Given the description of an element on the screen output the (x, y) to click on. 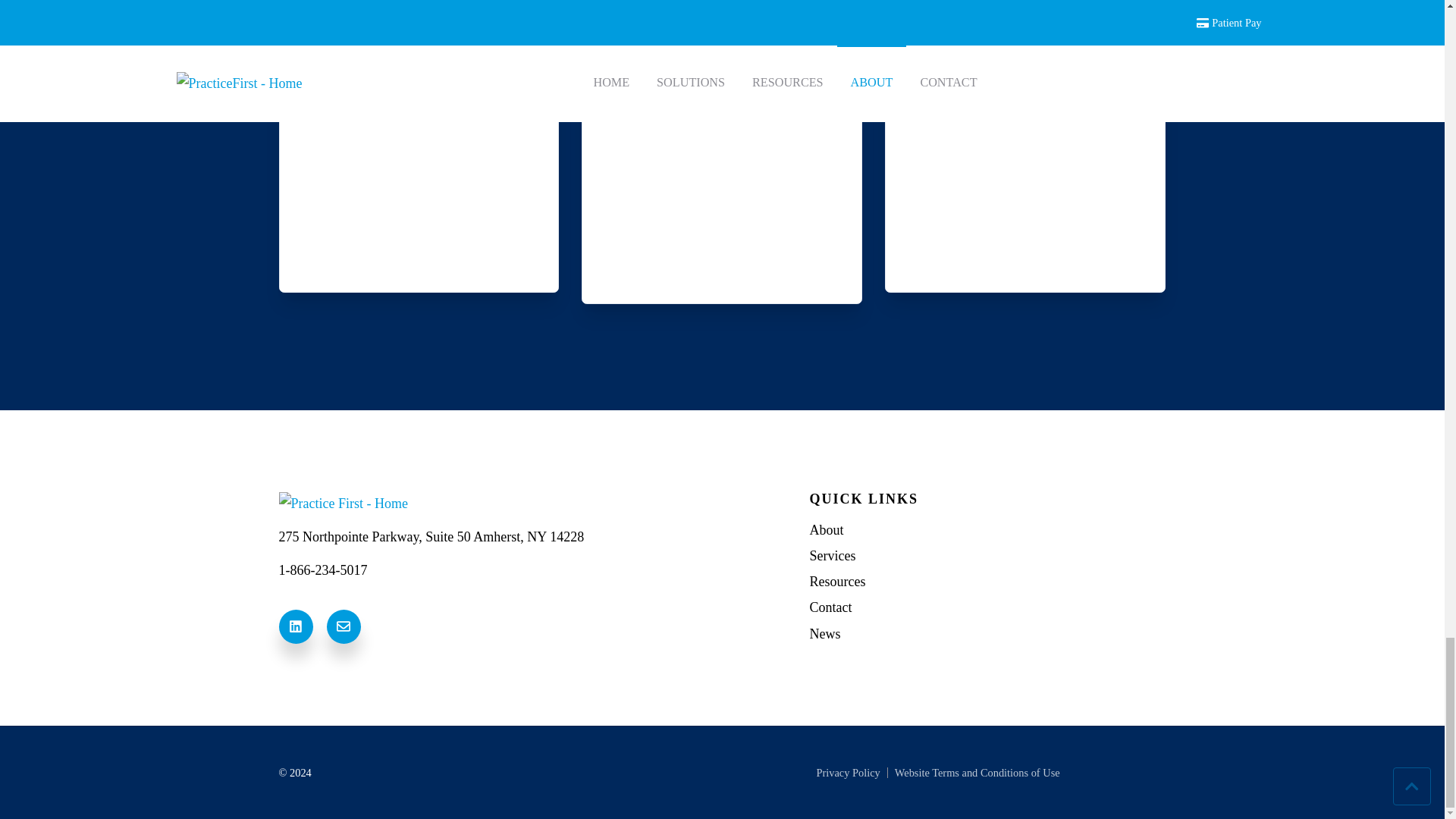
News (987, 633)
Privacy Policy (847, 772)
Resources (987, 581)
About (987, 529)
Contact (987, 607)
Website Terms and Conditions of Use (977, 772)
Services (987, 556)
